Given the description of an element on the screen output the (x, y) to click on. 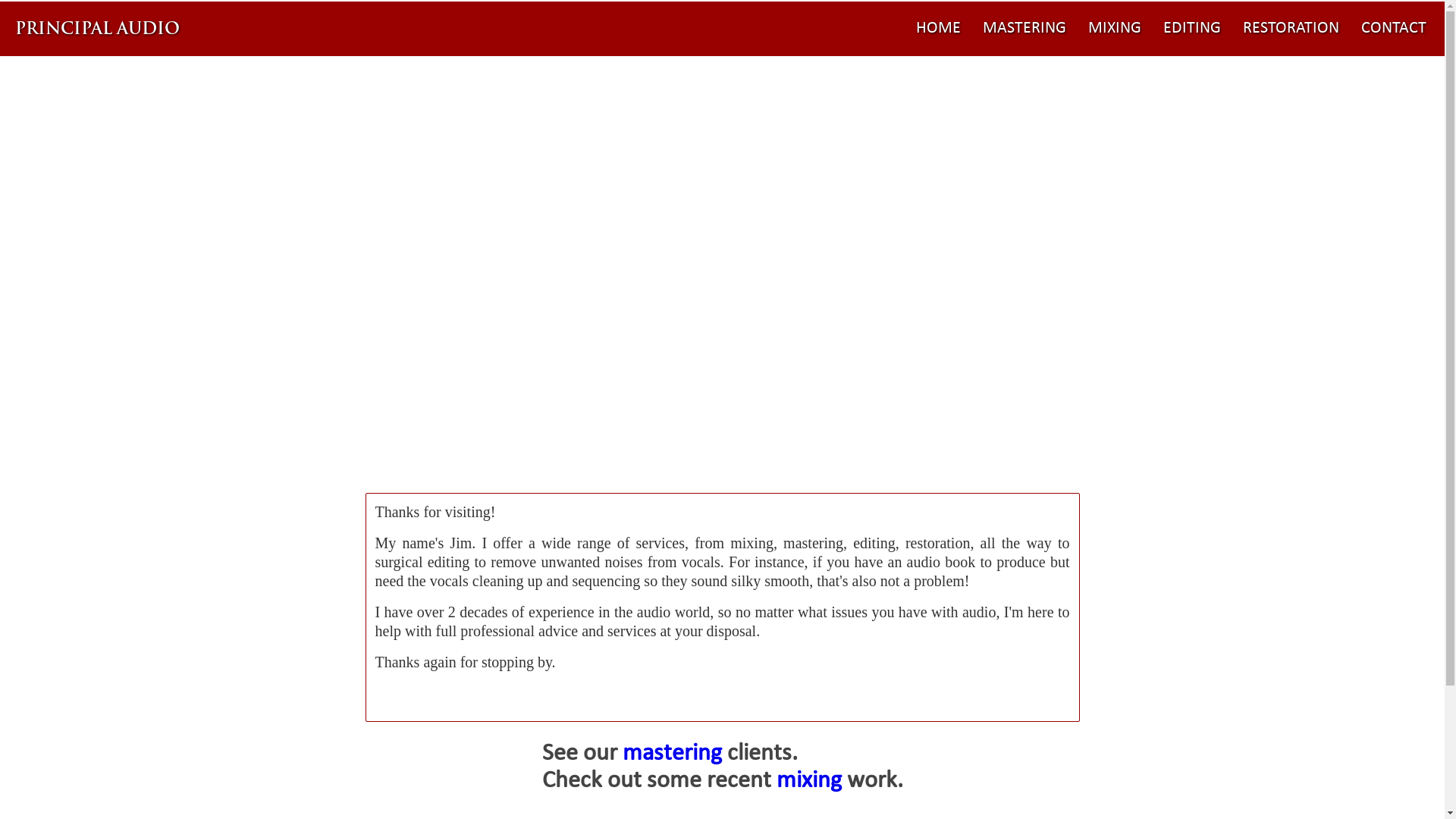
HOME Element type: text (937, 28)
EDITING Element type: text (1192, 28)
YouTube video player Element type: hover (722, 364)
Principal Audio Element type: text (98, 28)
MASTERING Element type: text (1024, 28)
MIXING Element type: text (1114, 28)
mixing Element type: text (808, 780)
CONTACT Element type: text (1393, 28)
RESTORATION Element type: text (1290, 28)
mastering Element type: text (671, 753)
